Given the description of an element on the screen output the (x, y) to click on. 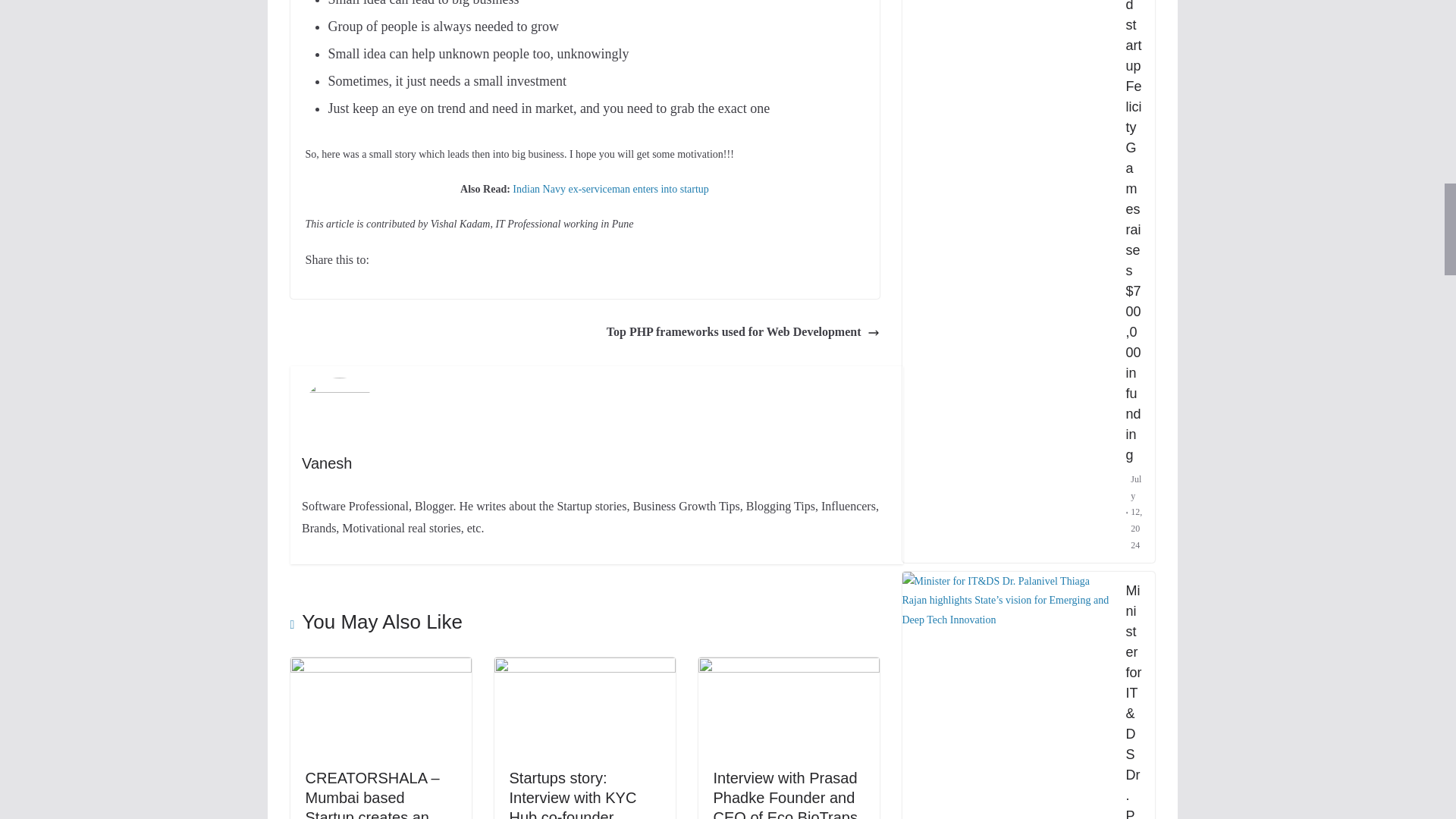
Indian Navy ex-serviceman enters into startup (610, 188)
Top PHP frameworks used for Web Development (743, 332)
